Given the description of an element on the screen output the (x, y) to click on. 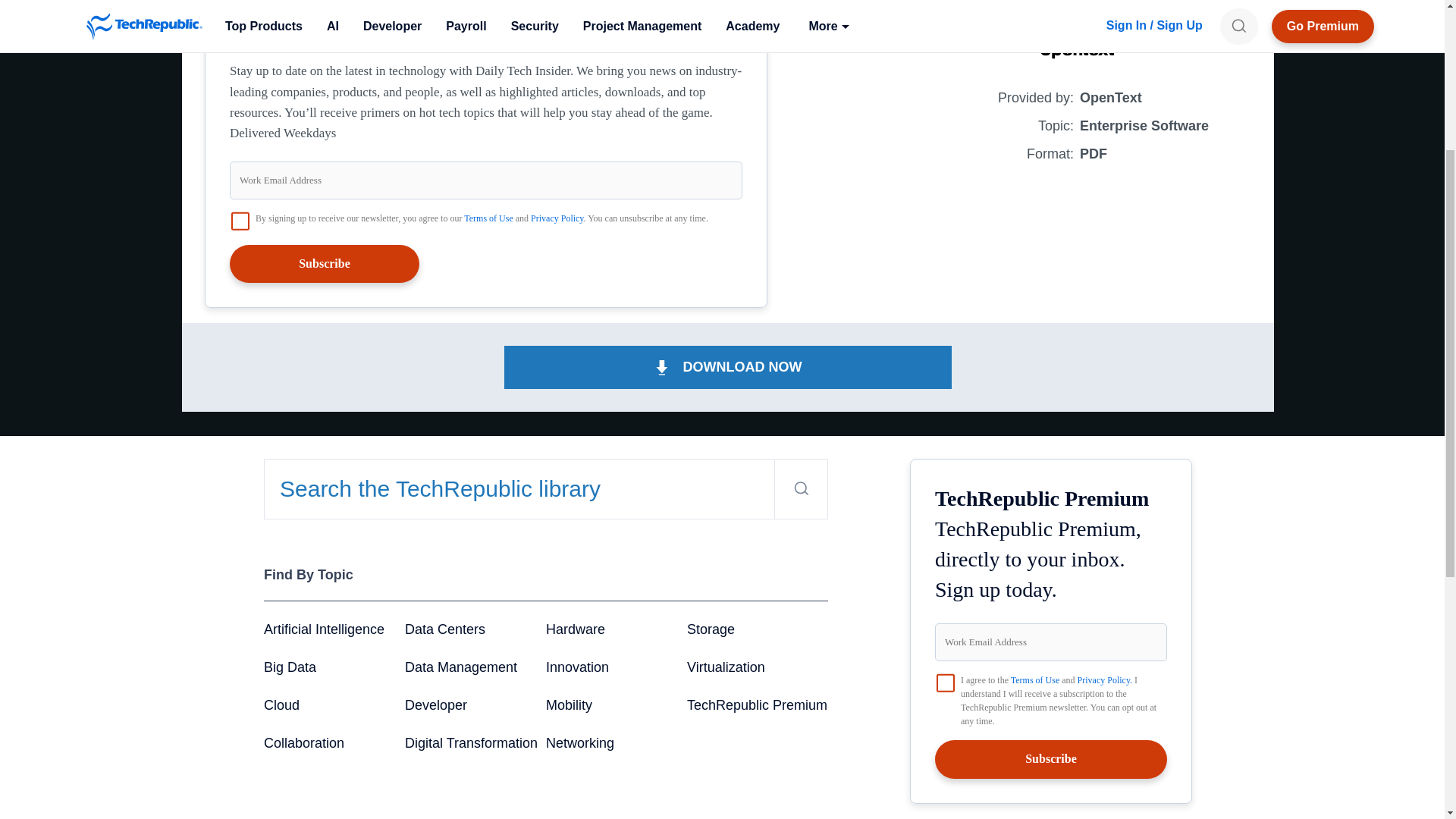
Terms of Use (488, 217)
on (239, 221)
Privacy Policy (557, 217)
Subscribe (324, 263)
on (945, 683)
